Given the description of an element on the screen output the (x, y) to click on. 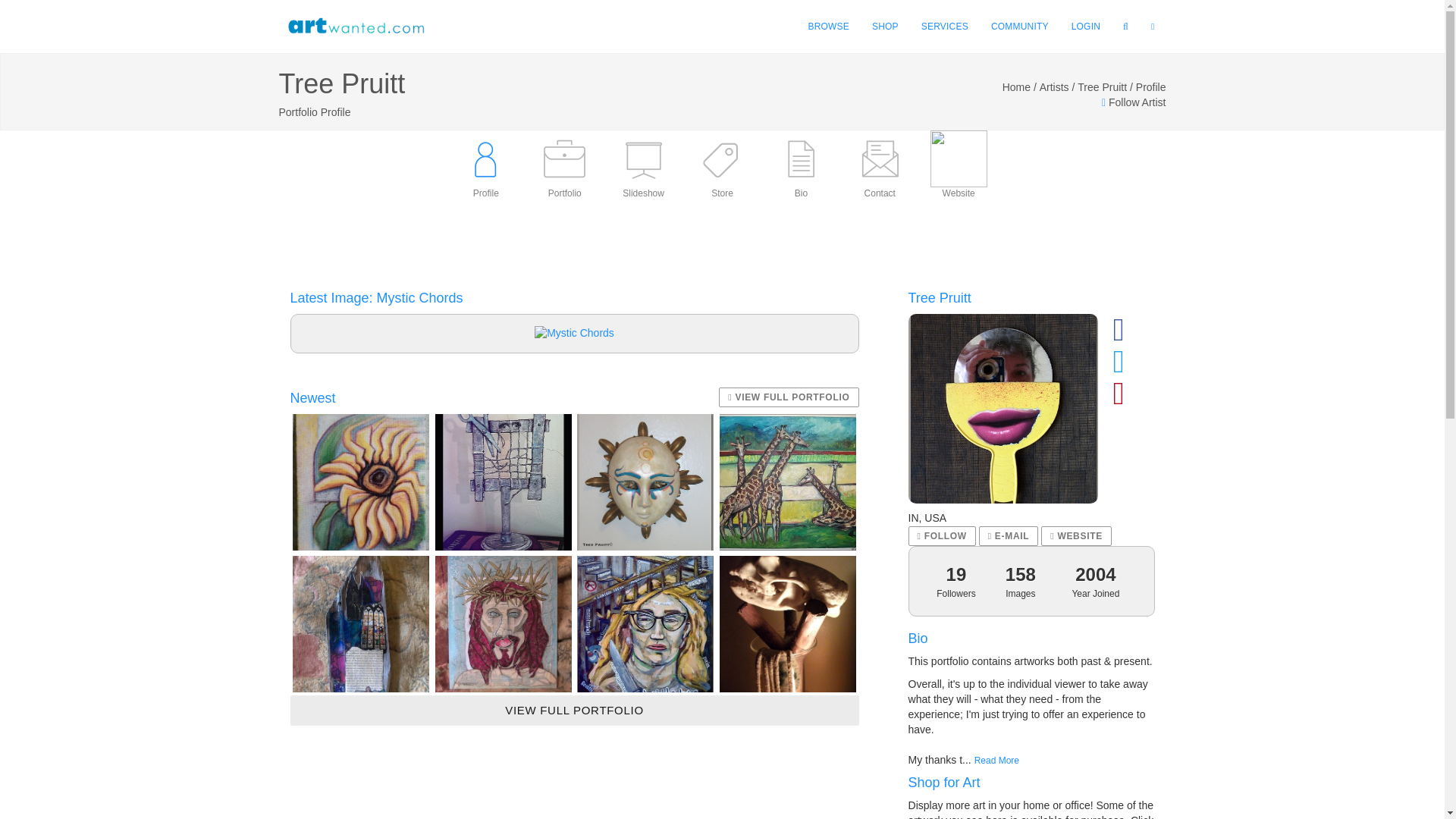
Follow on Pinterest (1118, 399)
BROWSE (828, 26)
Follow on Facebook (1118, 336)
Dolores Under the Stairs (644, 624)
Star Child Mask Wall Hanging Assemblage (644, 482)
SERVICES (944, 26)
Otter Skull and Willow Branch (787, 624)
Giraffe Herd Contemporary (787, 482)
Gothic Cathedral Collage on Old Barn Wood (360, 624)
Follow on Twitter (1118, 368)
COMMUNITY (1019, 26)
SHOP (885, 26)
Catholic Christ Collage (503, 624)
LOGIN (1085, 26)
Click for Details (574, 333)
